Given the description of an element on the screen output the (x, y) to click on. 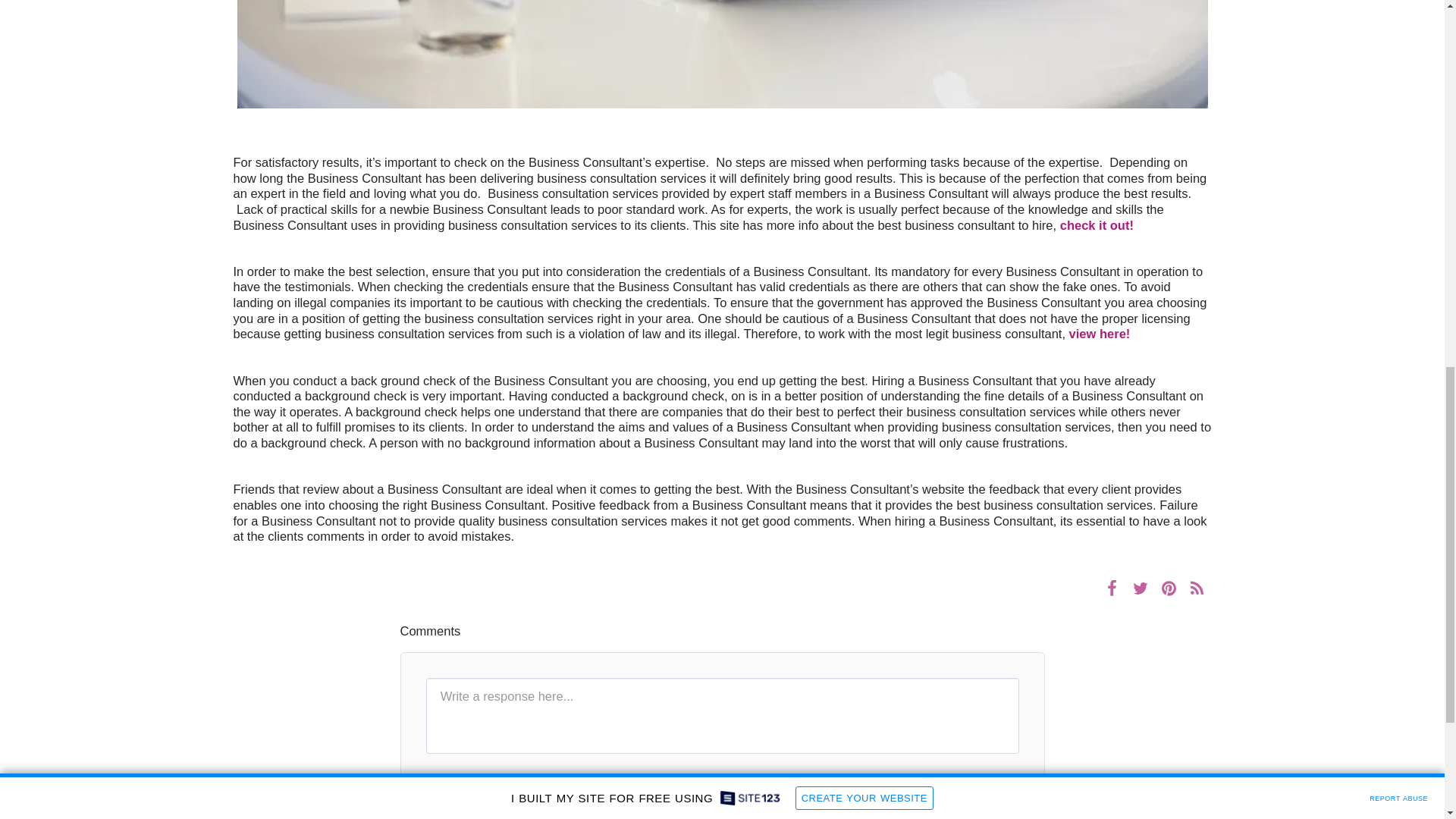
Tweet (1139, 587)
Pin it (1168, 587)
view here! (1099, 333)
check it out! (1096, 224)
RSS (1196, 587)
Share on Facebook (1111, 587)
